Given the description of an element on the screen output the (x, y) to click on. 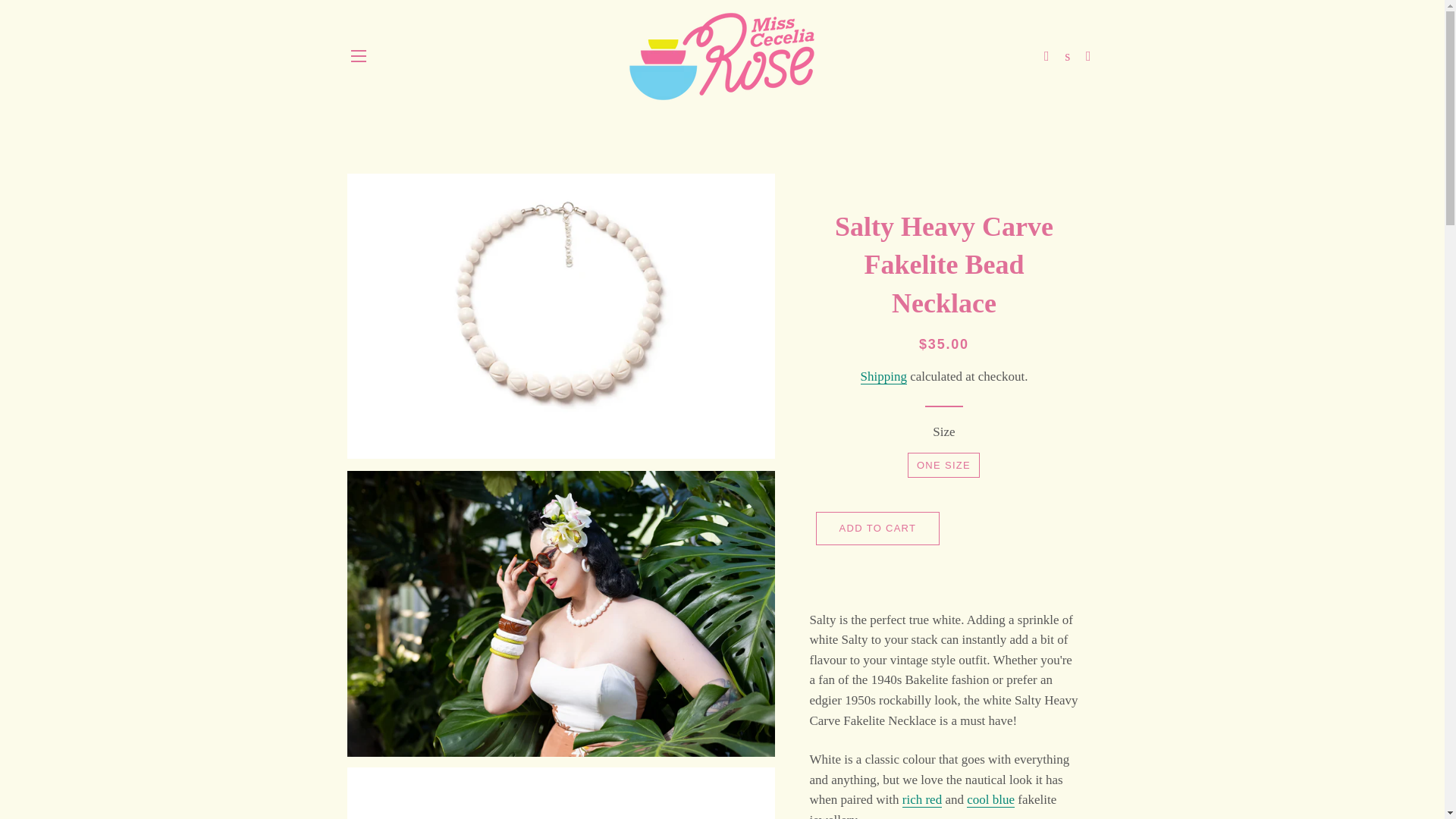
SITE NAVIGATION (358, 55)
